Given the description of an element on the screen output the (x, y) to click on. 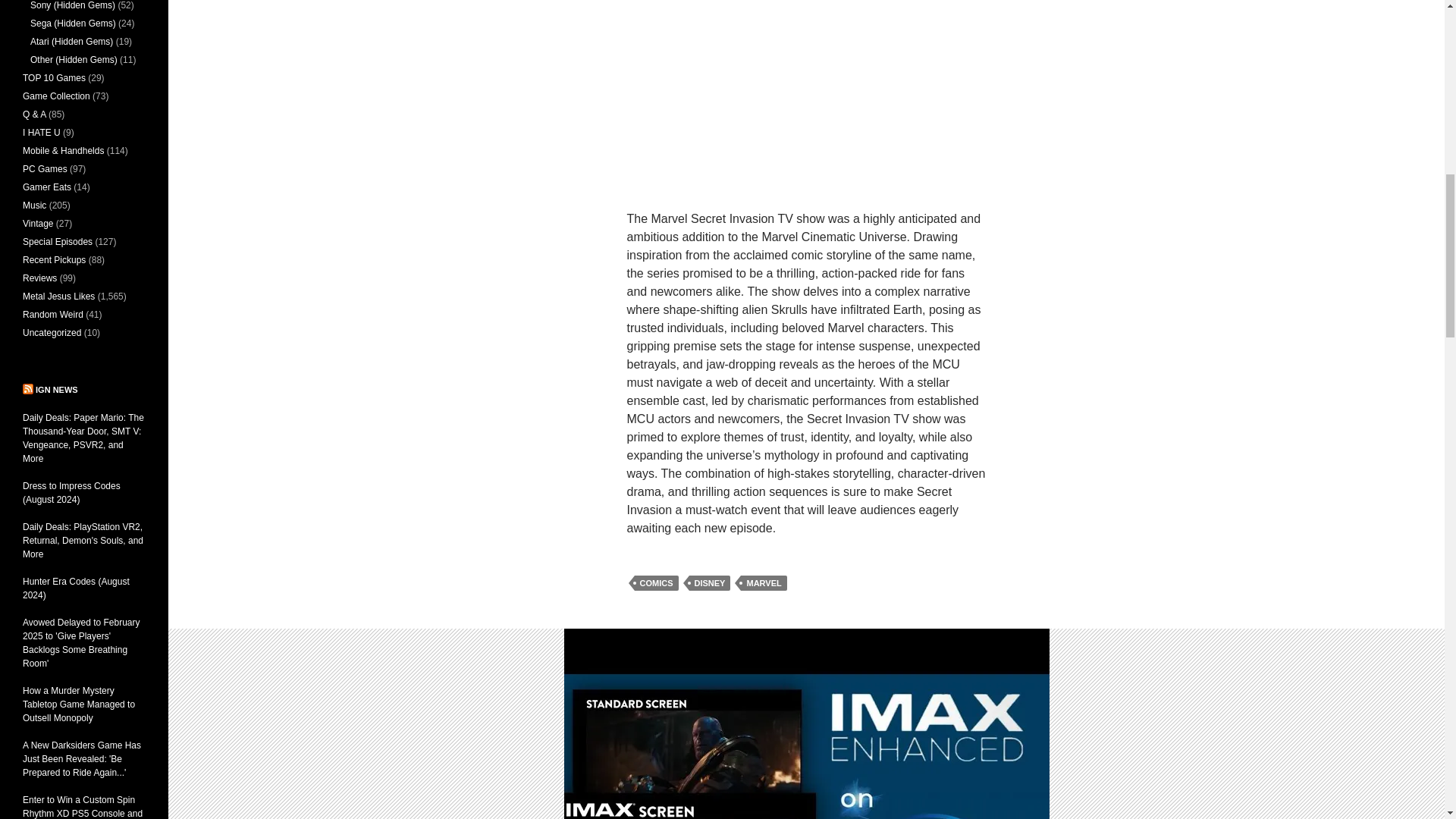
COMICS (655, 582)
DISNEY (709, 582)
